Given the description of an element on the screen output the (x, y) to click on. 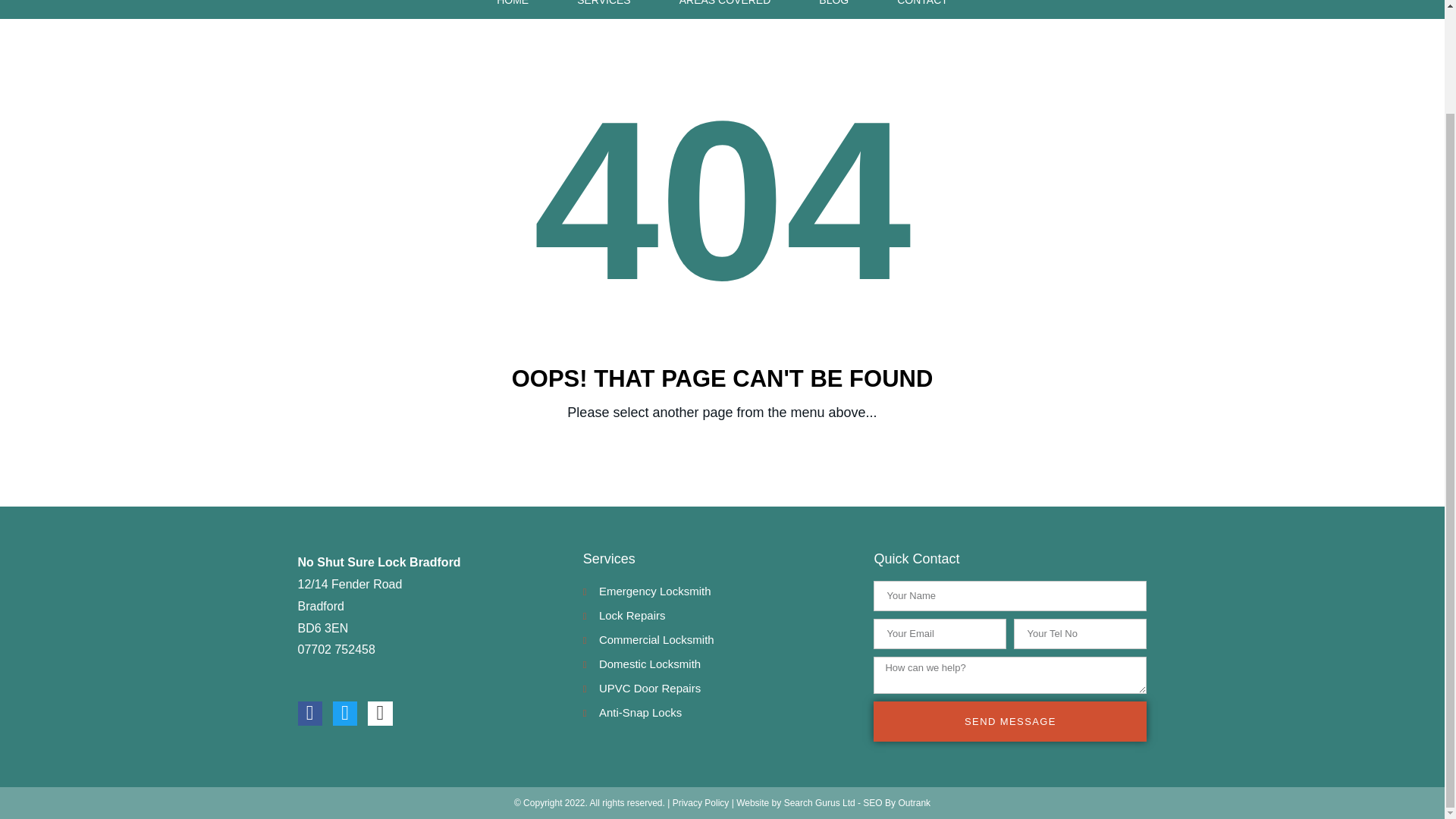
UPVC Door Repairs (721, 689)
SEND MESSAGE (1010, 721)
AREAS COVERED (724, 9)
HOME (512, 9)
BLOG (833, 9)
SERVICES (604, 9)
Anti-Snap Locks (721, 712)
CONTACT (922, 9)
Lock Repairs (721, 616)
Domestic Locksmith (721, 664)
Emergency Locksmith (721, 591)
Commercial Locksmith (721, 640)
